Given the description of an element on the screen output the (x, y) to click on. 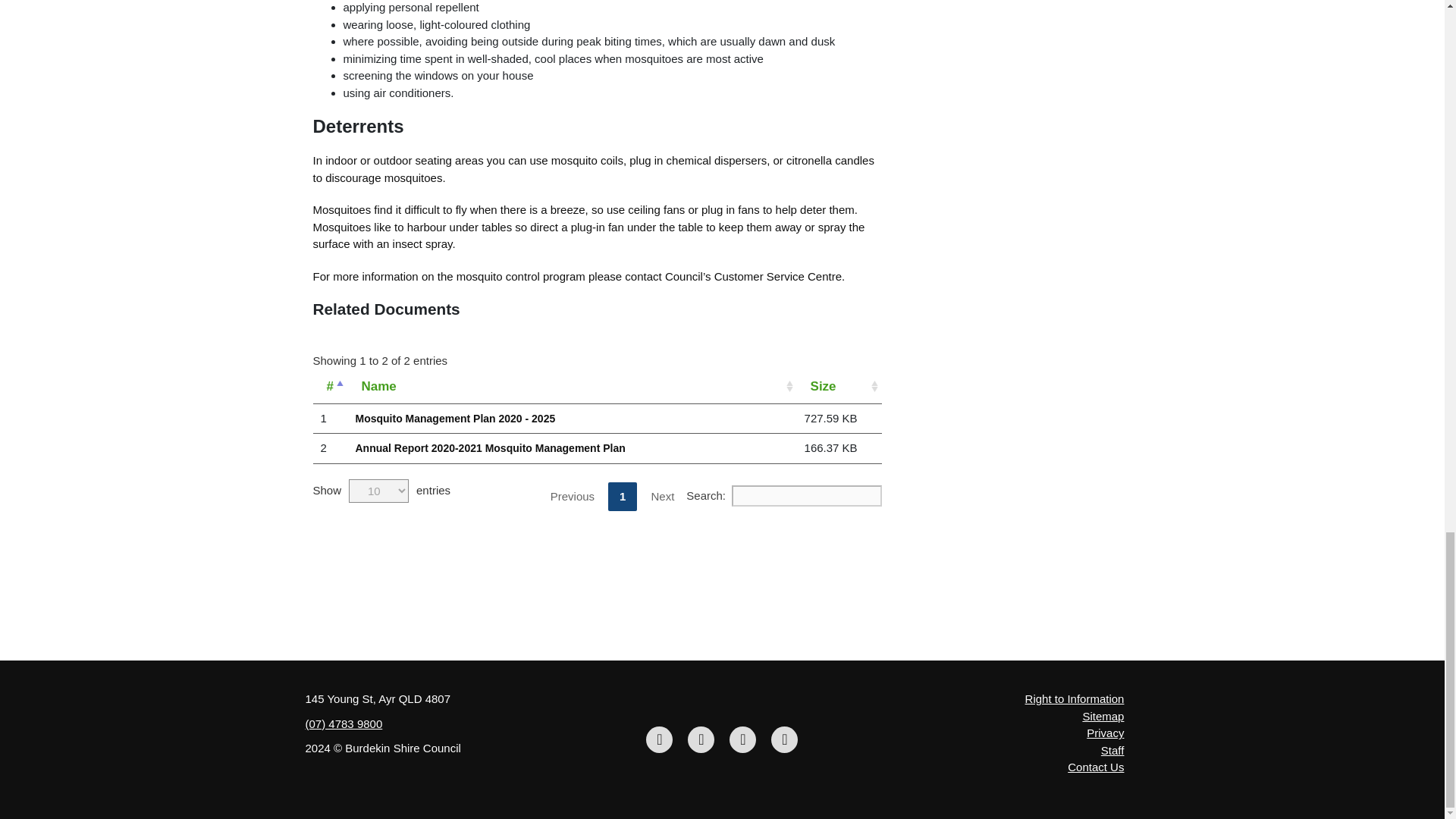
Position (330, 387)
